Given the description of an element on the screen output the (x, y) to click on. 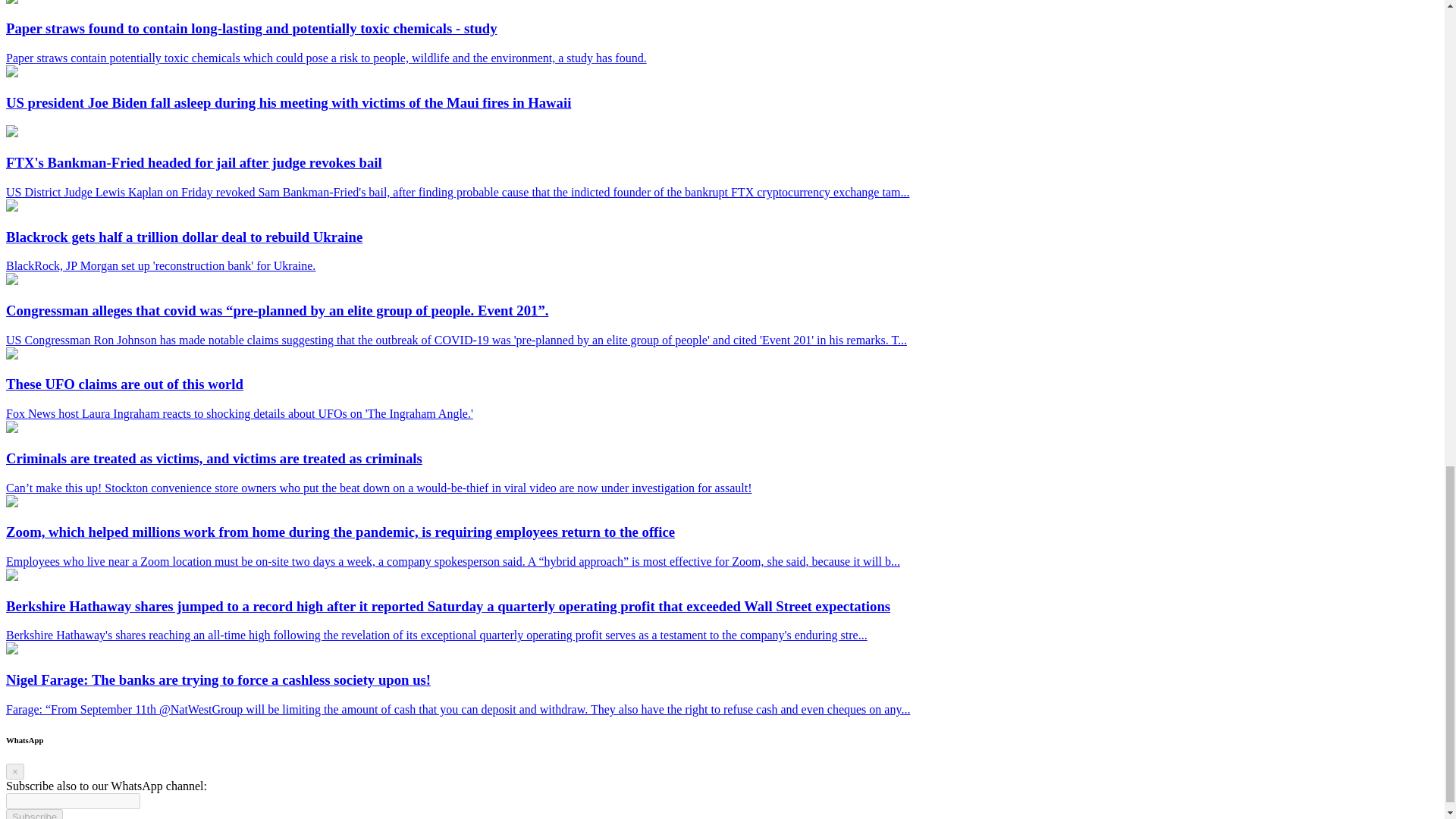
These UFO claims are out of this world (11, 354)
FTX's Bankman-Fried headed for jail after judge revokes bail (11, 132)
